Given the description of an element on the screen output the (x, y) to click on. 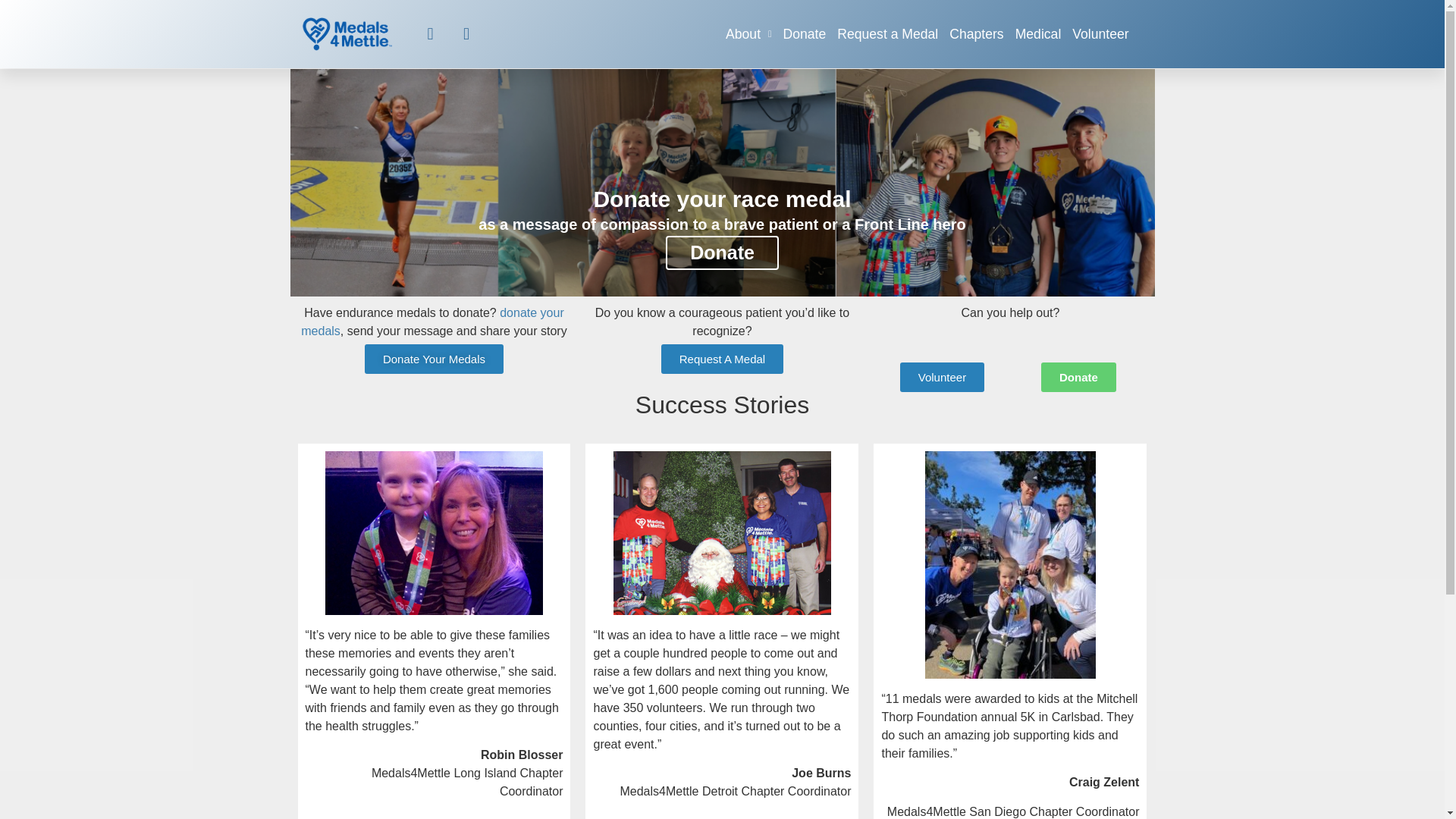
Request a Medal (887, 33)
Medical (1037, 33)
About (748, 33)
Chapters (976, 33)
Donate (805, 33)
Donate (721, 252)
Volunteer (1099, 33)
